Given the description of an element on the screen output the (x, y) to click on. 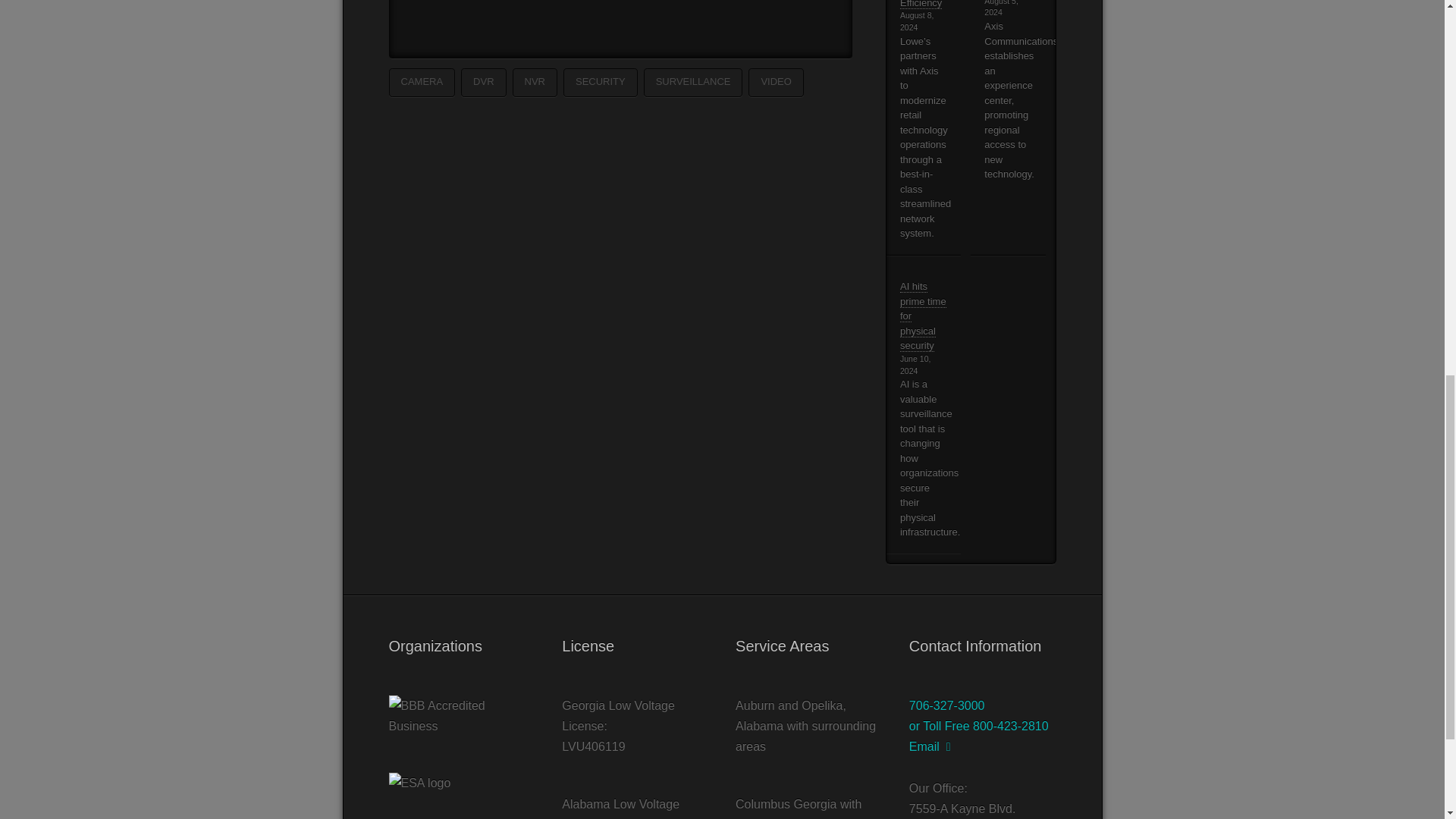
or Toll Free 800-423-2810 (978, 725)
706-327-3000 (946, 705)
CAMERA (421, 82)
SURVEILLANCE (692, 82)
SECURITY (600, 82)
DVR (483, 82)
VIDEO (775, 82)
Email   (929, 746)
NVR (534, 82)
